Given the description of an element on the screen output the (x, y) to click on. 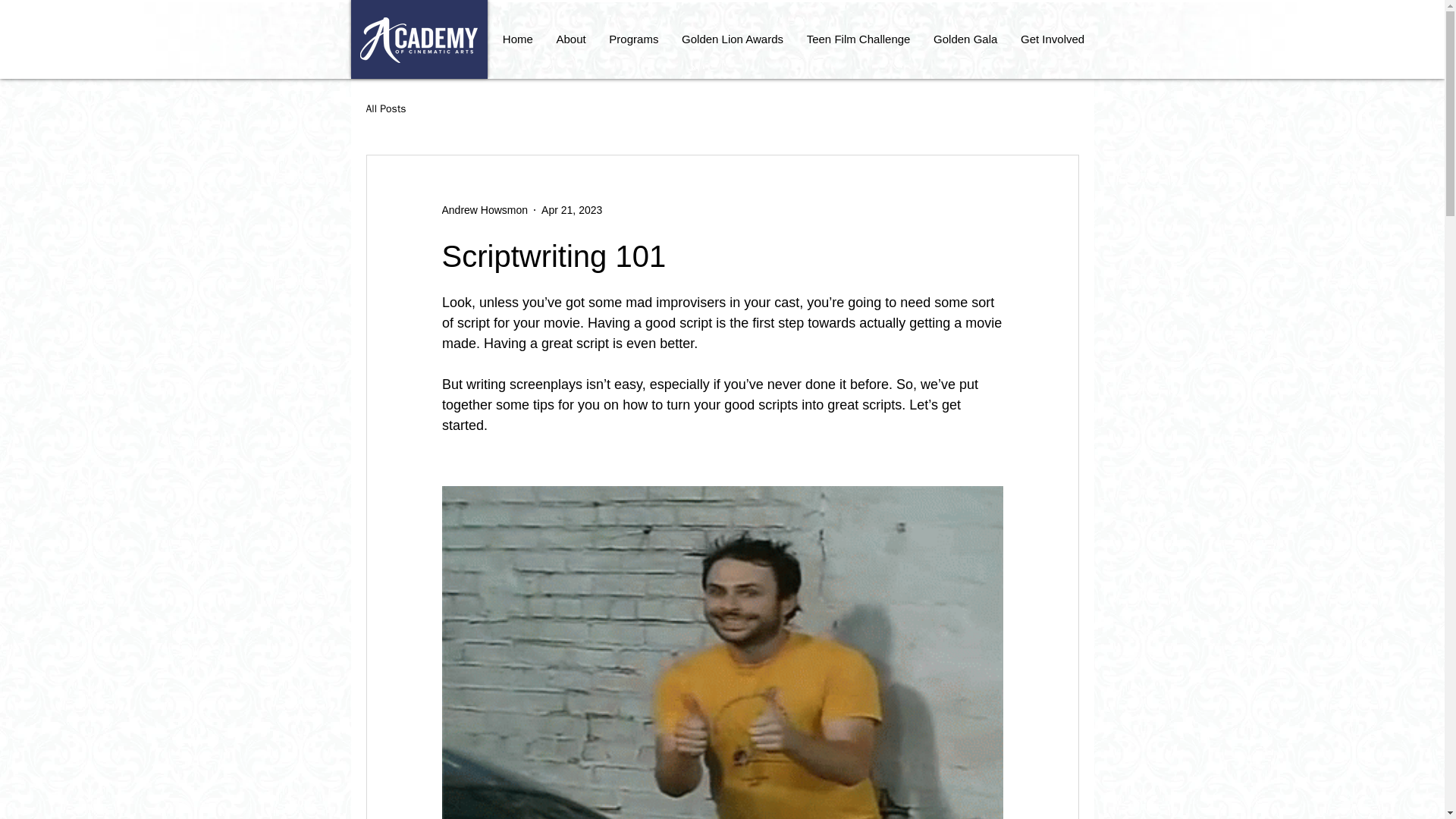
About (570, 39)
Andrew Howsmon (484, 209)
Programs (632, 39)
Home (518, 39)
Teen Film Challenge (857, 39)
Apr 21, 2023 (571, 209)
Golden Lion Awards (732, 39)
